Given the description of an element on the screen output the (x, y) to click on. 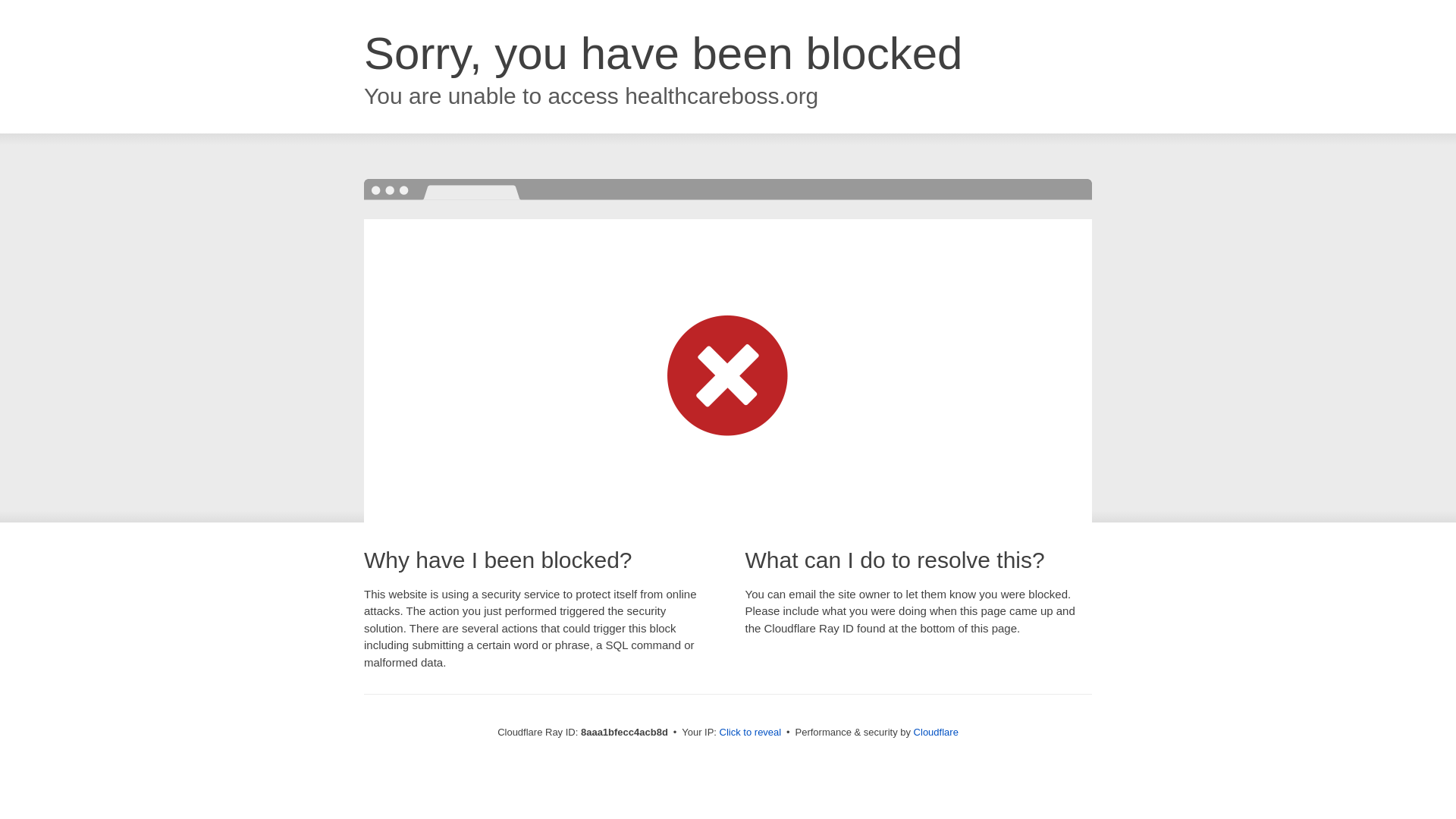
Click to reveal (750, 732)
Cloudflare (936, 731)
